Given the description of an element on the screen output the (x, y) to click on. 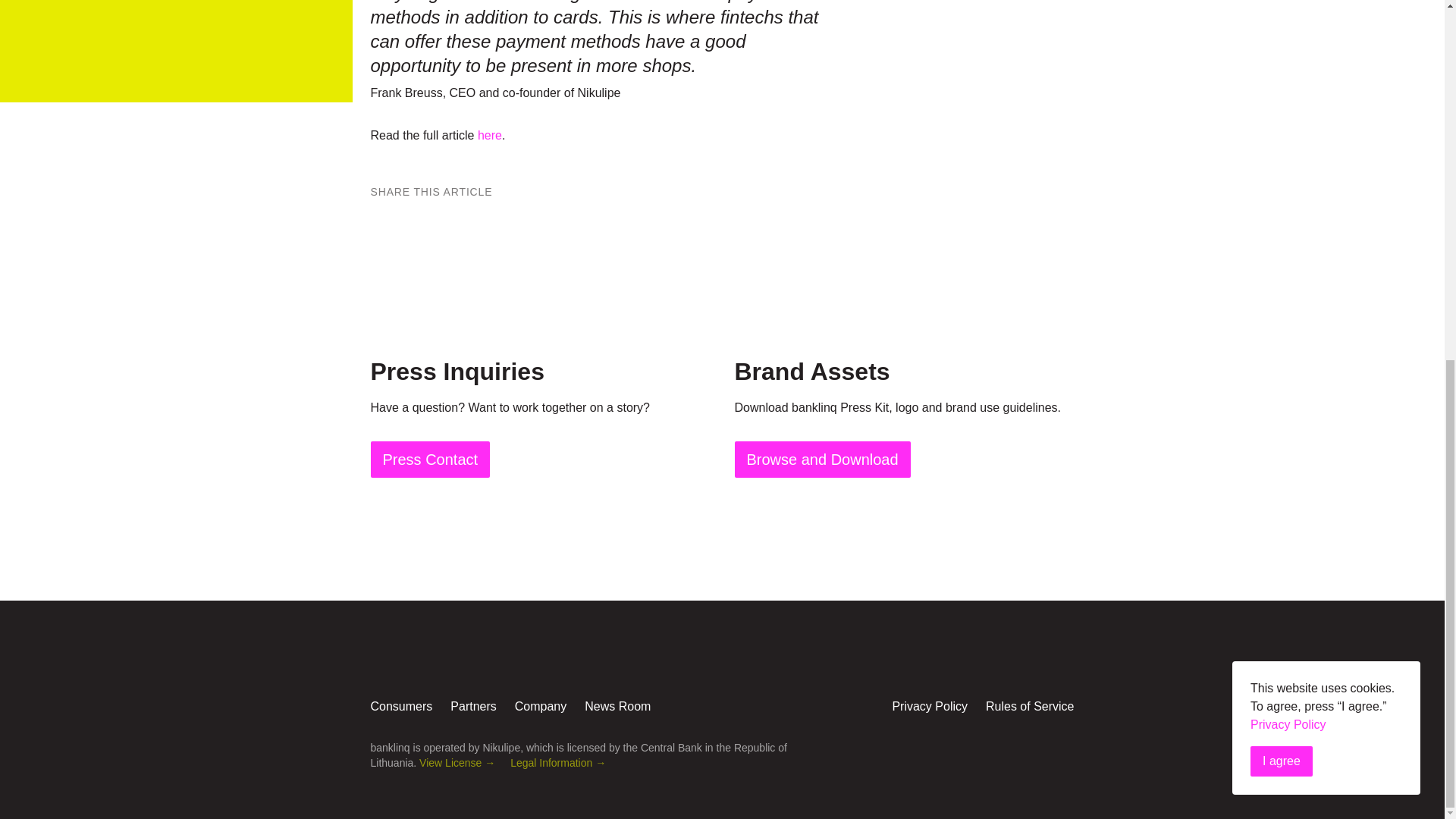
Privacy Policy (929, 706)
Consumers (400, 706)
Consumers (400, 706)
Privacy Policy (929, 706)
I agree (1281, 122)
Rules of Service (1029, 706)
Privacy Policy (1288, 84)
Company (540, 706)
Company (540, 706)
News Room (617, 706)
